Given the description of an element on the screen output the (x, y) to click on. 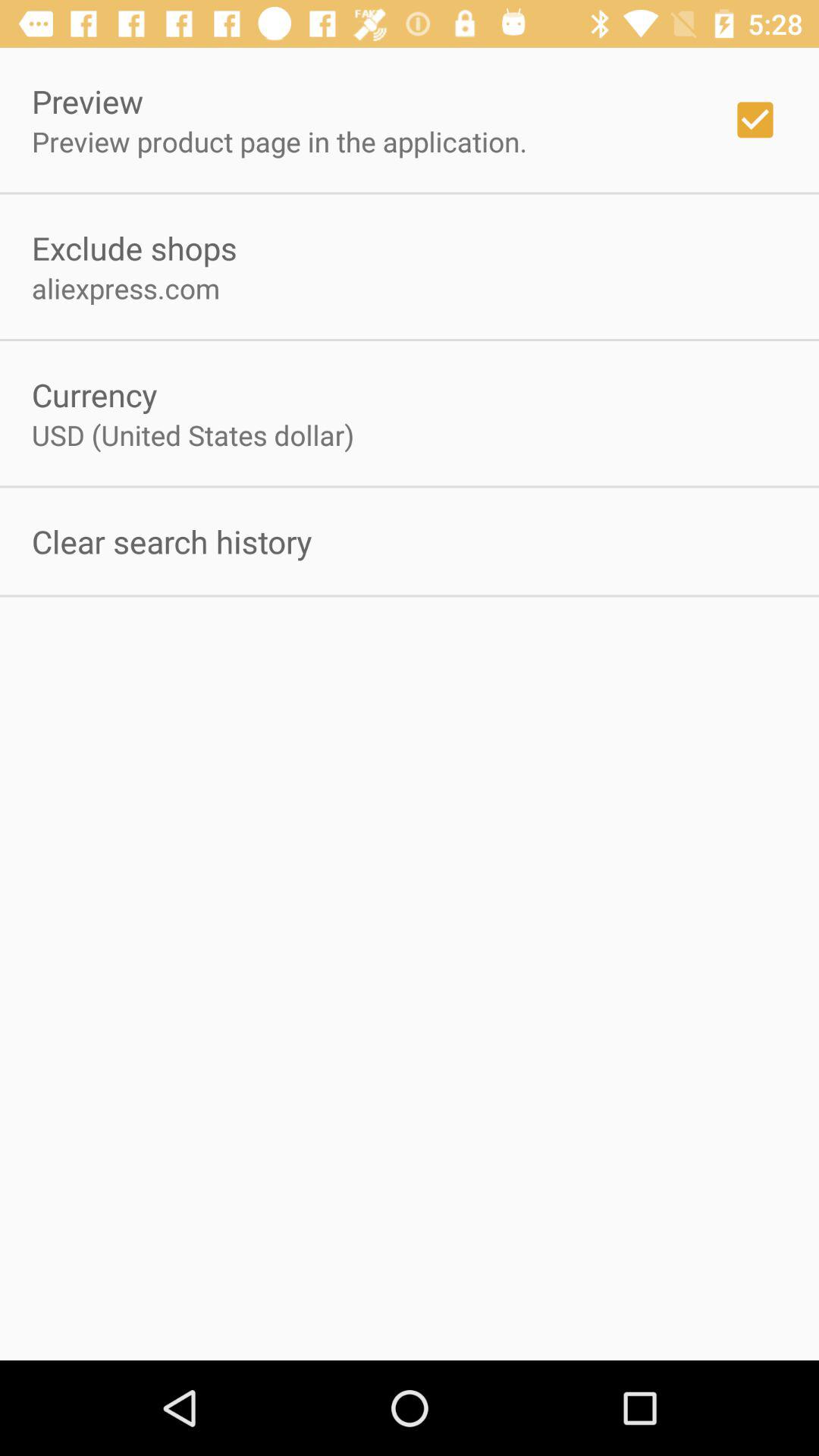
scroll until preview product page app (279, 141)
